Given the description of an element on the screen output the (x, y) to click on. 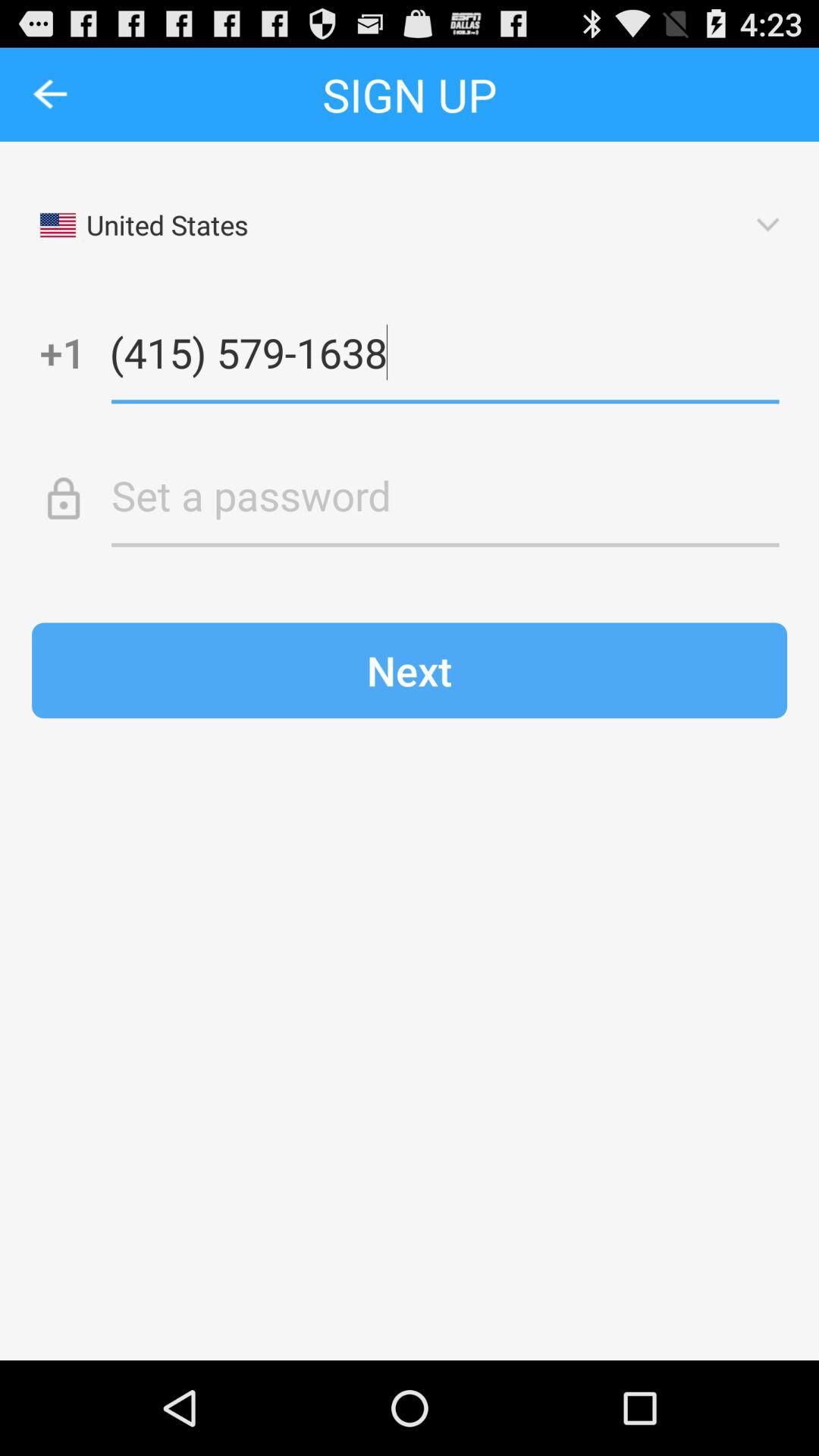
toggle security option (445, 495)
